Given the description of an element on the screen output the (x, y) to click on. 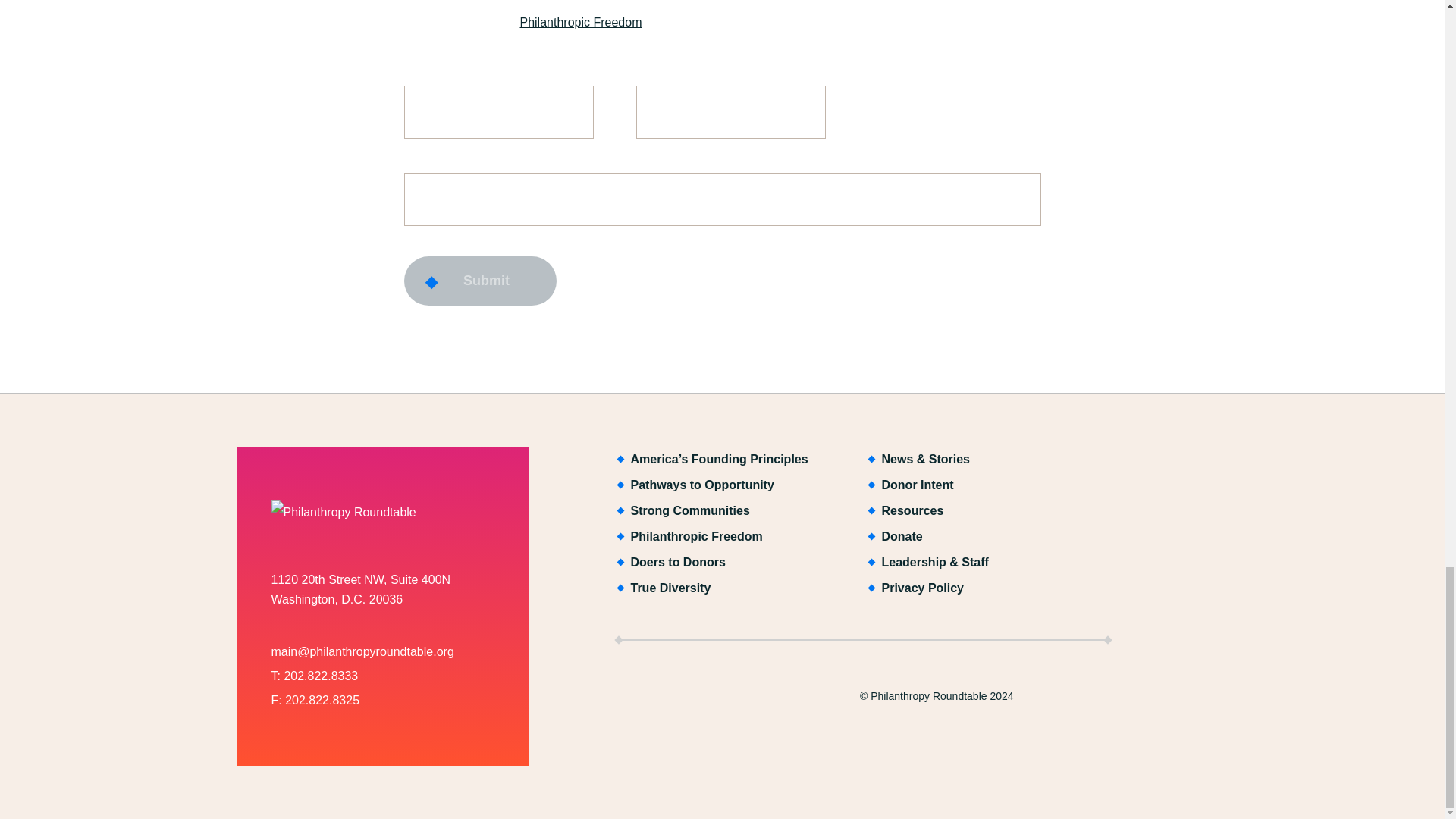
Philanthropic Freedom (580, 21)
Submit (479, 280)
Submit (479, 280)
